Given the description of an element on the screen output the (x, y) to click on. 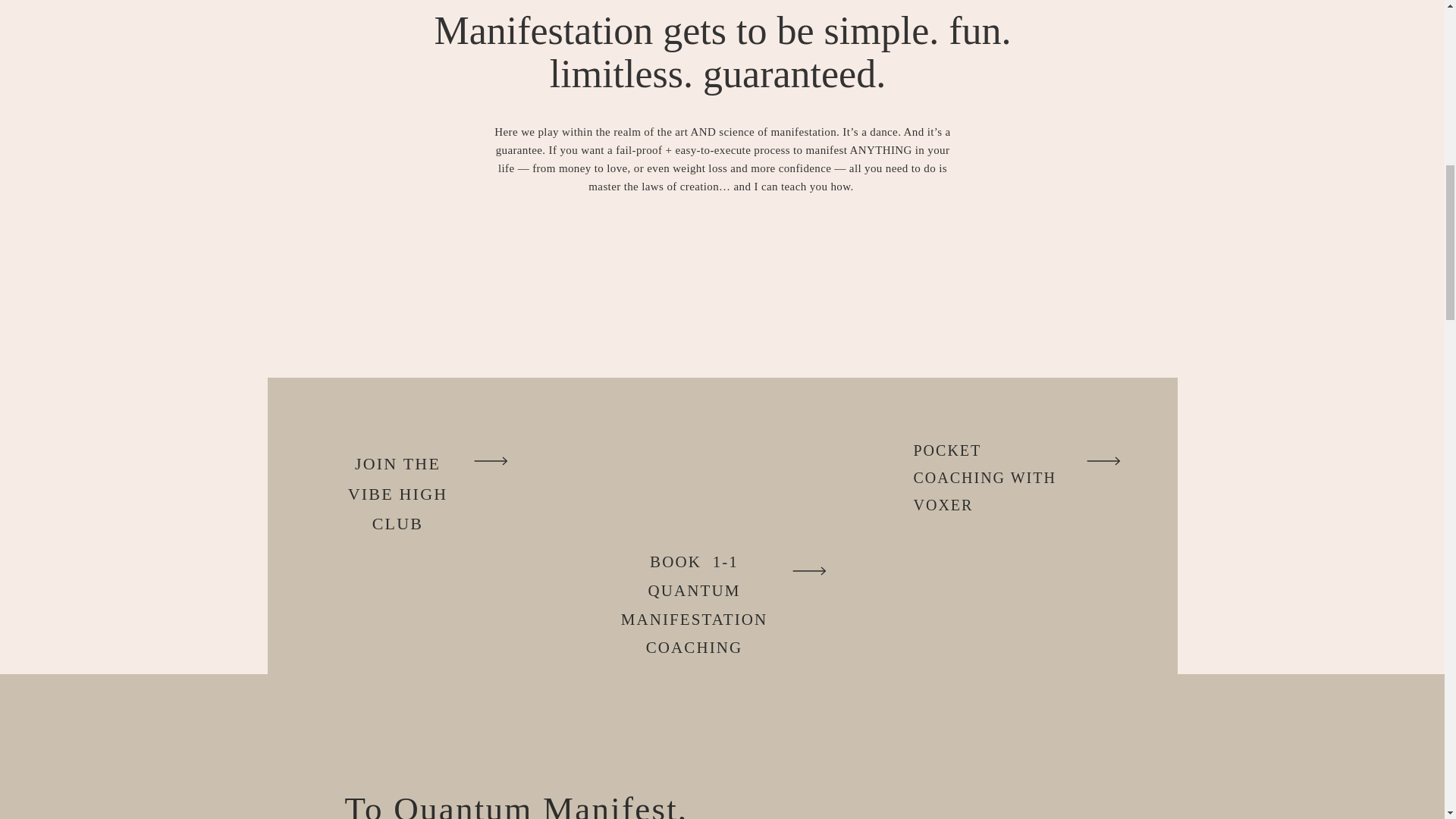
BOOK  1-1 QUANTUM MANIFESTATION COACHING (693, 589)
POCKET COACHING WITH VOXER (989, 457)
JOIN THE VIBE HIGH CLUB (397, 476)
